Given the description of an element on the screen output the (x, y) to click on. 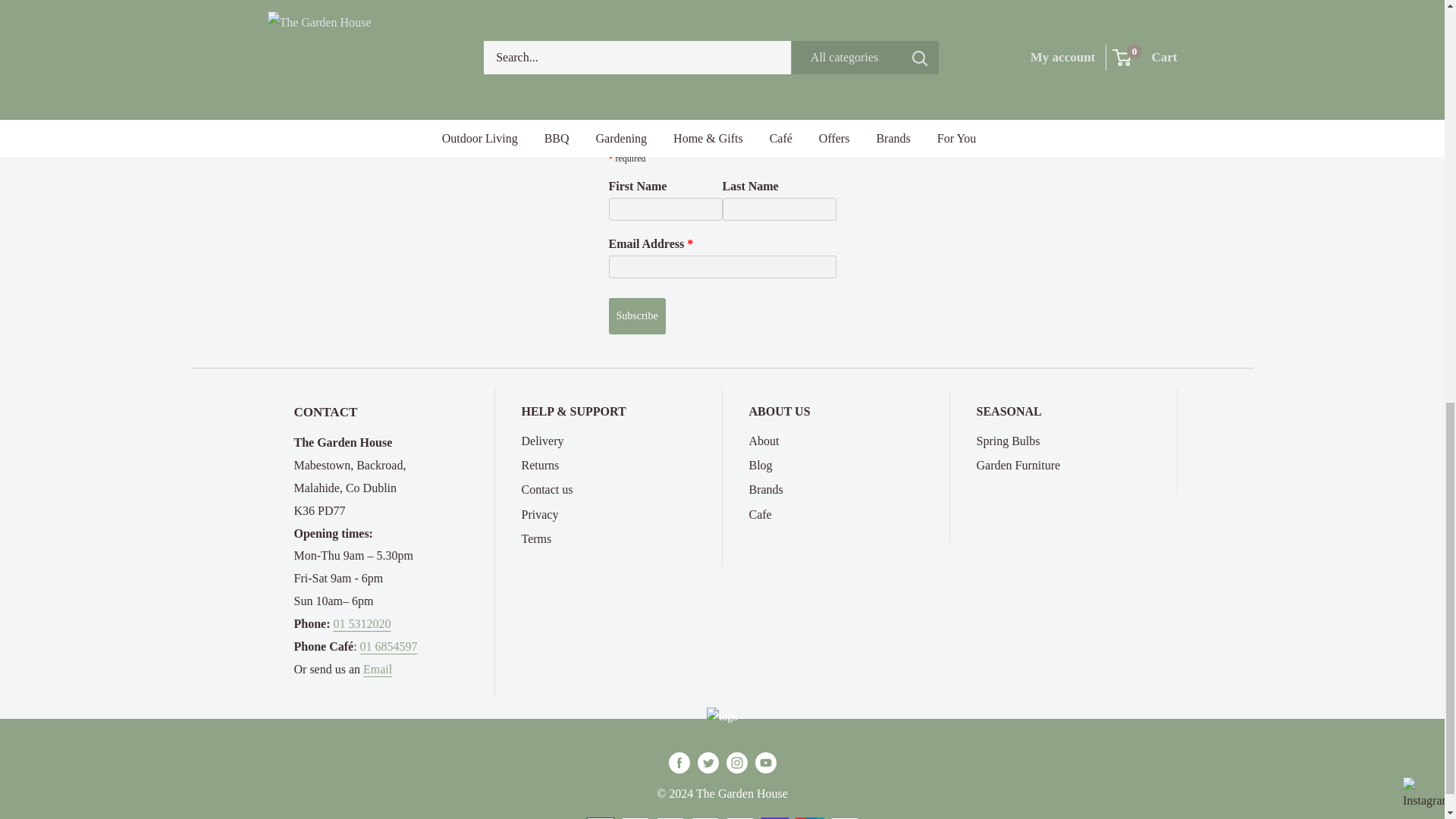
Contact (376, 668)
Subscribe (636, 316)
tel:01 5312020 (362, 623)
